Given the description of an element on the screen output the (x, y) to click on. 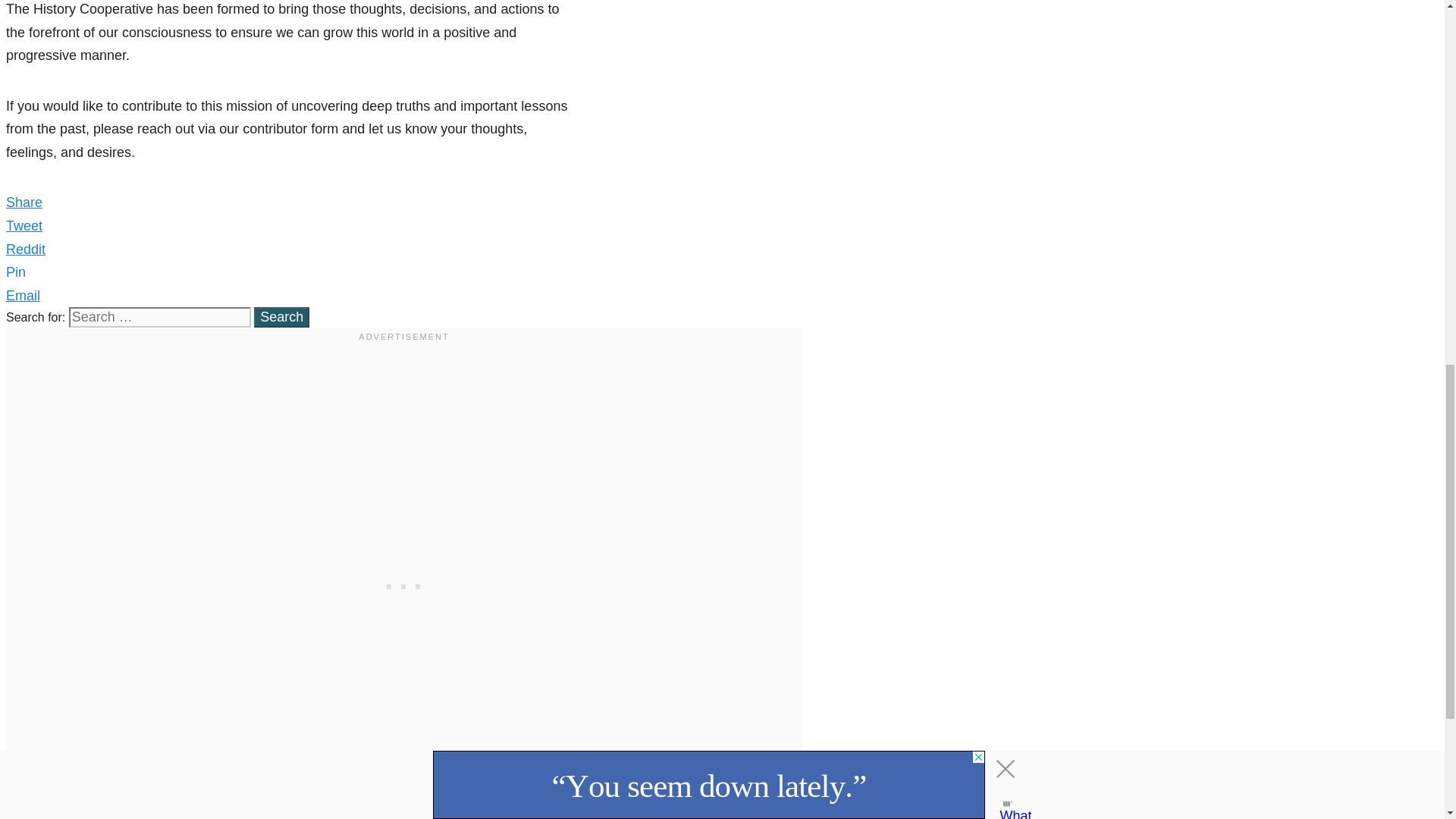
Search for: (159, 317)
Share (23, 201)
Reddit (25, 249)
Tweet (23, 225)
Search (280, 317)
Search (280, 317)
Email (22, 295)
Pin (15, 272)
